Given the description of an element on the screen output the (x, y) to click on. 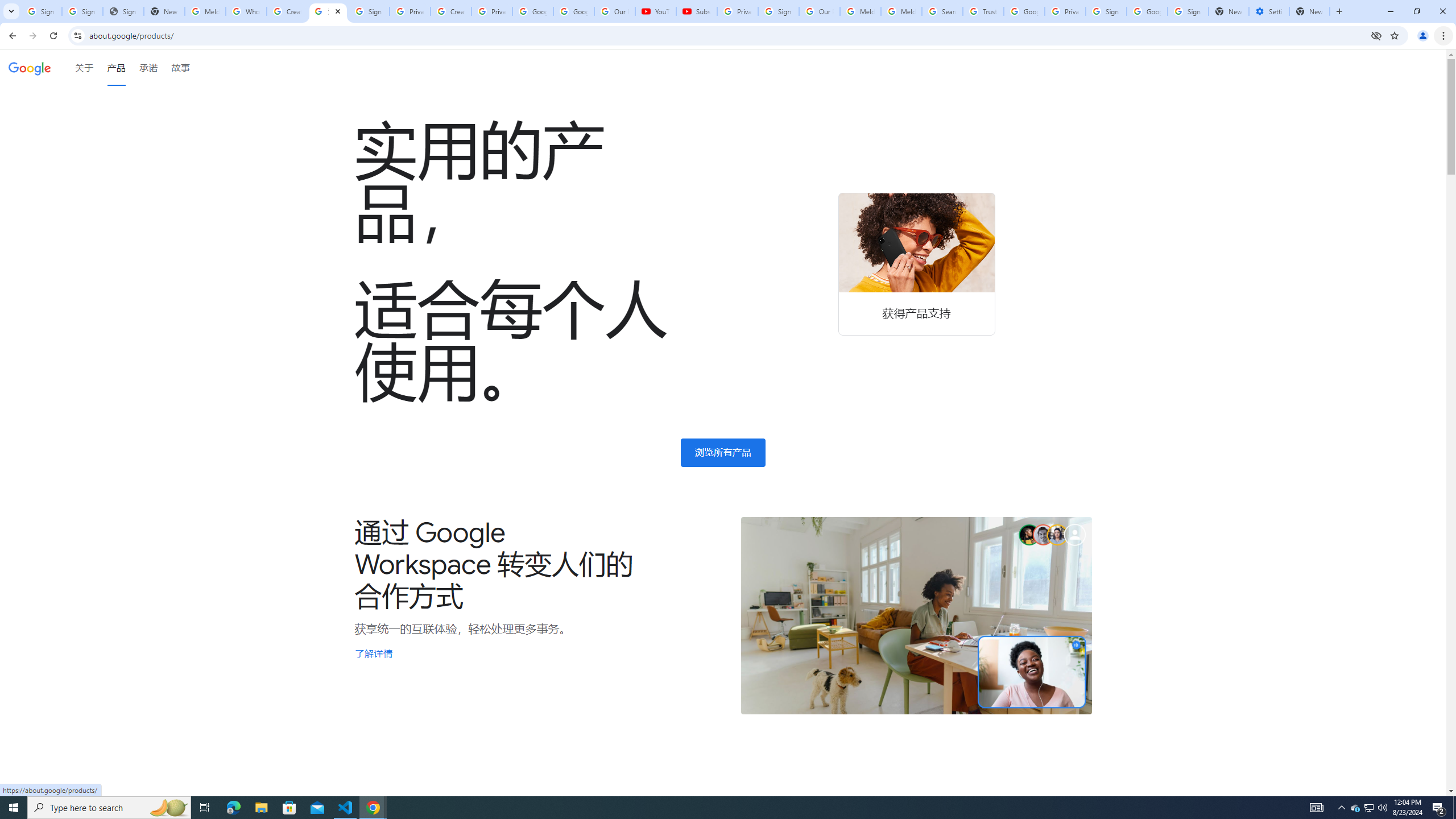
Google Ads - Sign in (1023, 11)
Google (29, 67)
Settings - Addresses and more (1268, 11)
Bookmark this tab (1393, 35)
Sign in - Google Accounts (1105, 11)
Search tabs (10, 11)
Forward (32, 35)
You (1422, 35)
View site information (77, 35)
